Given the description of an element on the screen output the (x, y) to click on. 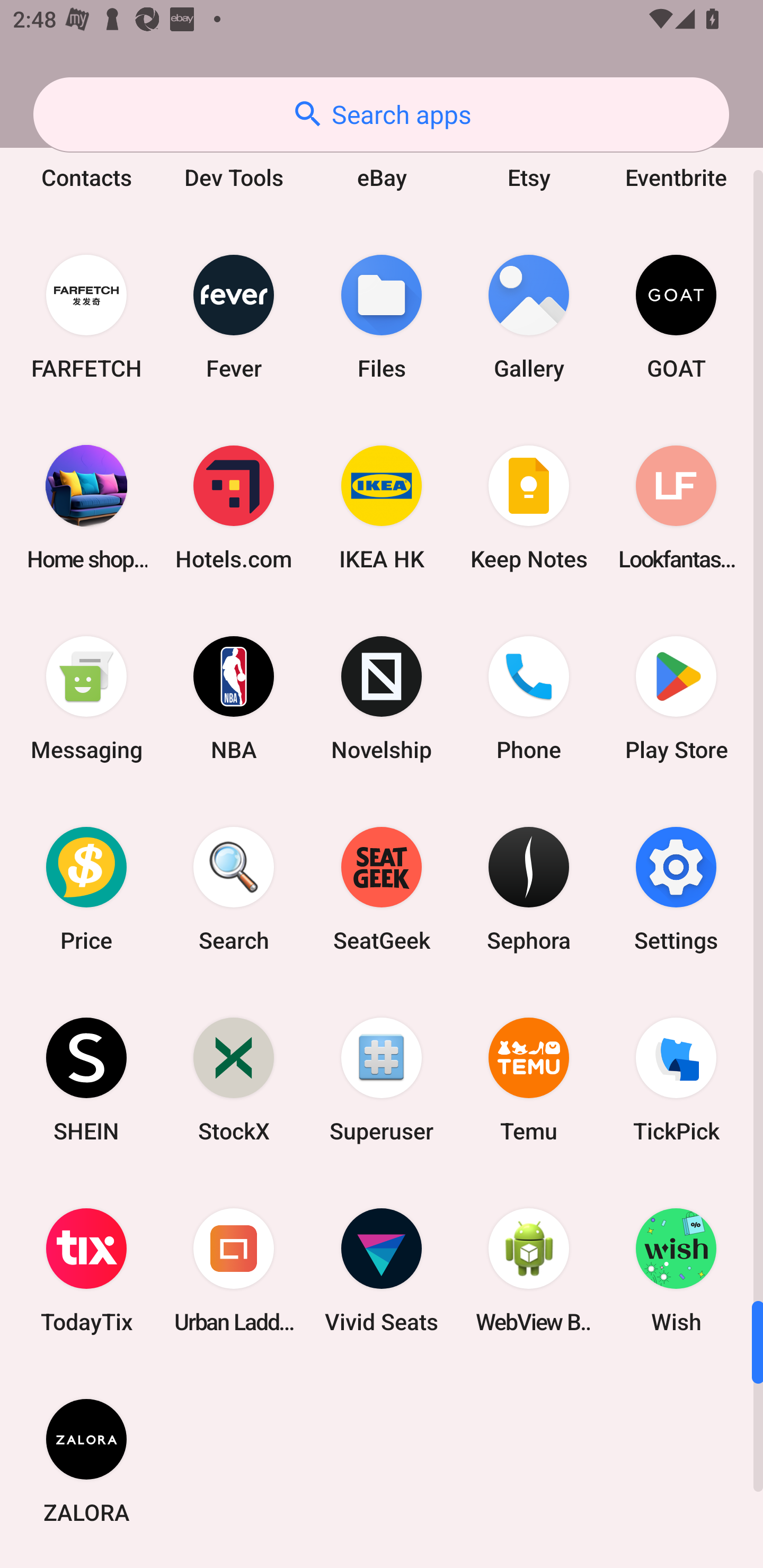
  Search apps (381, 114)
FARFETCH (86, 316)
Fever (233, 316)
Files (381, 316)
Gallery (528, 316)
GOAT (676, 316)
Home shopping (86, 507)
Hotels.com (233, 507)
IKEA HK (381, 507)
Keep Notes (528, 507)
Lookfantastic (676, 507)
Messaging (86, 697)
NBA (233, 697)
Novelship (381, 697)
Phone (528, 697)
Play Store (676, 697)
Price (86, 888)
Search (233, 888)
SeatGeek (381, 888)
Sephora (528, 888)
Settings (676, 888)
SHEIN (86, 1079)
StockX (233, 1079)
Superuser (381, 1079)
Temu (528, 1079)
TickPick (676, 1079)
TodayTix (86, 1269)
Urban Ladder (233, 1269)
Vivid Seats (381, 1269)
WebView Browser Tester (528, 1269)
Wish (676, 1269)
ZALORA (86, 1461)
